Given the description of an element on the screen output the (x, y) to click on. 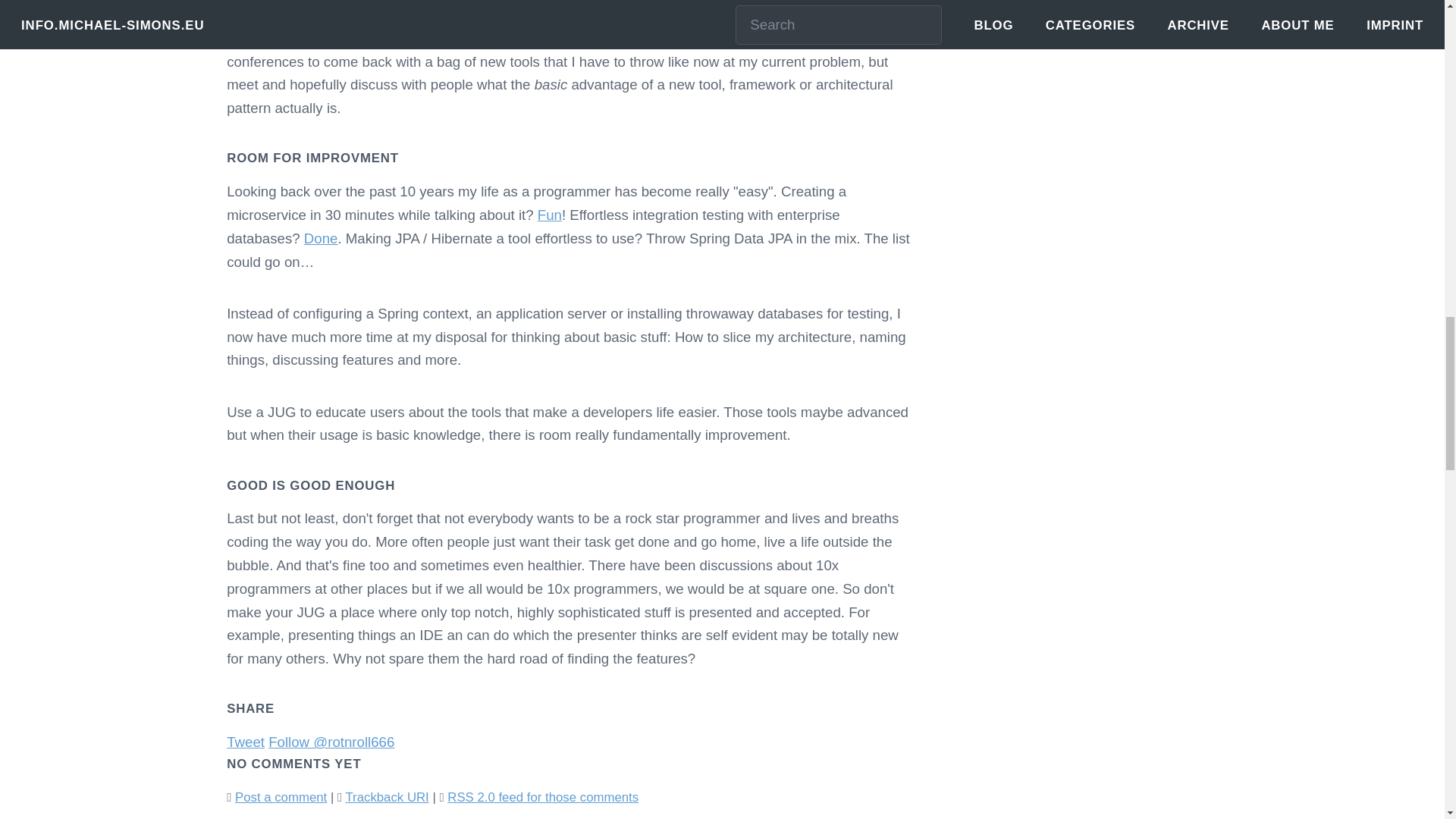
Post a comment (280, 797)
Fun (549, 214)
Trackback URI for your post (386, 797)
RSS 2.0 feed for those comments (542, 797)
Done (320, 238)
Post a comment (280, 797)
Trackback URI (386, 797)
Tweet (245, 741)
